Given the description of an element on the screen output the (x, y) to click on. 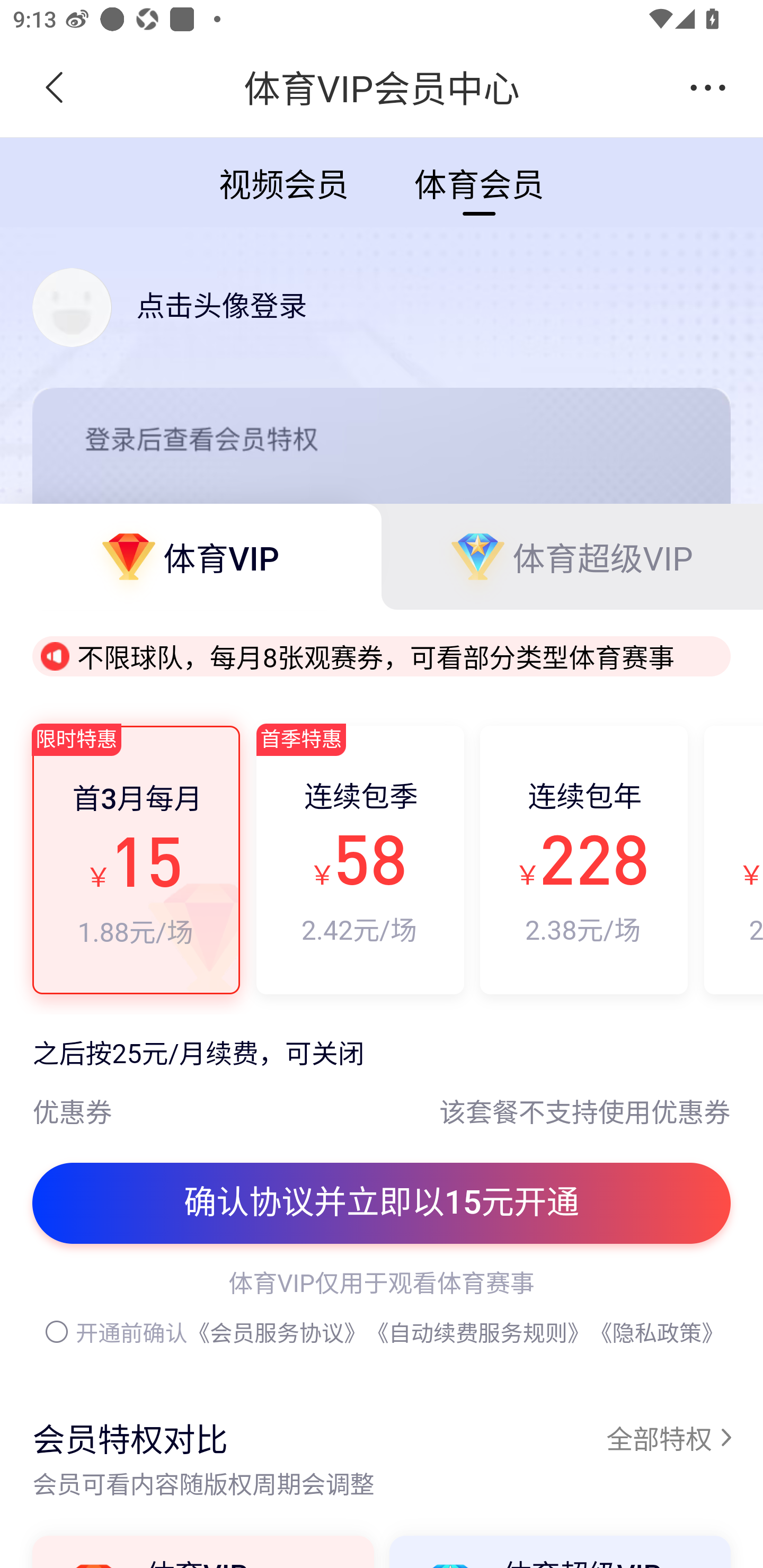
 返回 (54, 87)
 更多 (707, 87)
体育VIP会员中心 (381, 88)
视频会员 (283, 181)
vip_sport_vip 体育VIP (190, 556)
vip_sport_svip 体育超级VIP (572, 556)
首3月每月 ￥15 1.88元/场 限时特惠 (136, 859)
连续包季 ￥58 2.42元/场 首季特惠 (359, 859)
连续包年 ￥228 2.38元/场 (583, 859)
优惠券 该套餐不支持使用优惠券 (381, 1099)
确认协议并立即以15元开通 (381, 1202)
《会员服务协议》 (276, 1333)
《自动续费服务规则》 (478, 1333)
《隐私政策》 (656, 1333)
全部特权 (667, 1436)
